Given the description of an element on the screen output the (x, y) to click on. 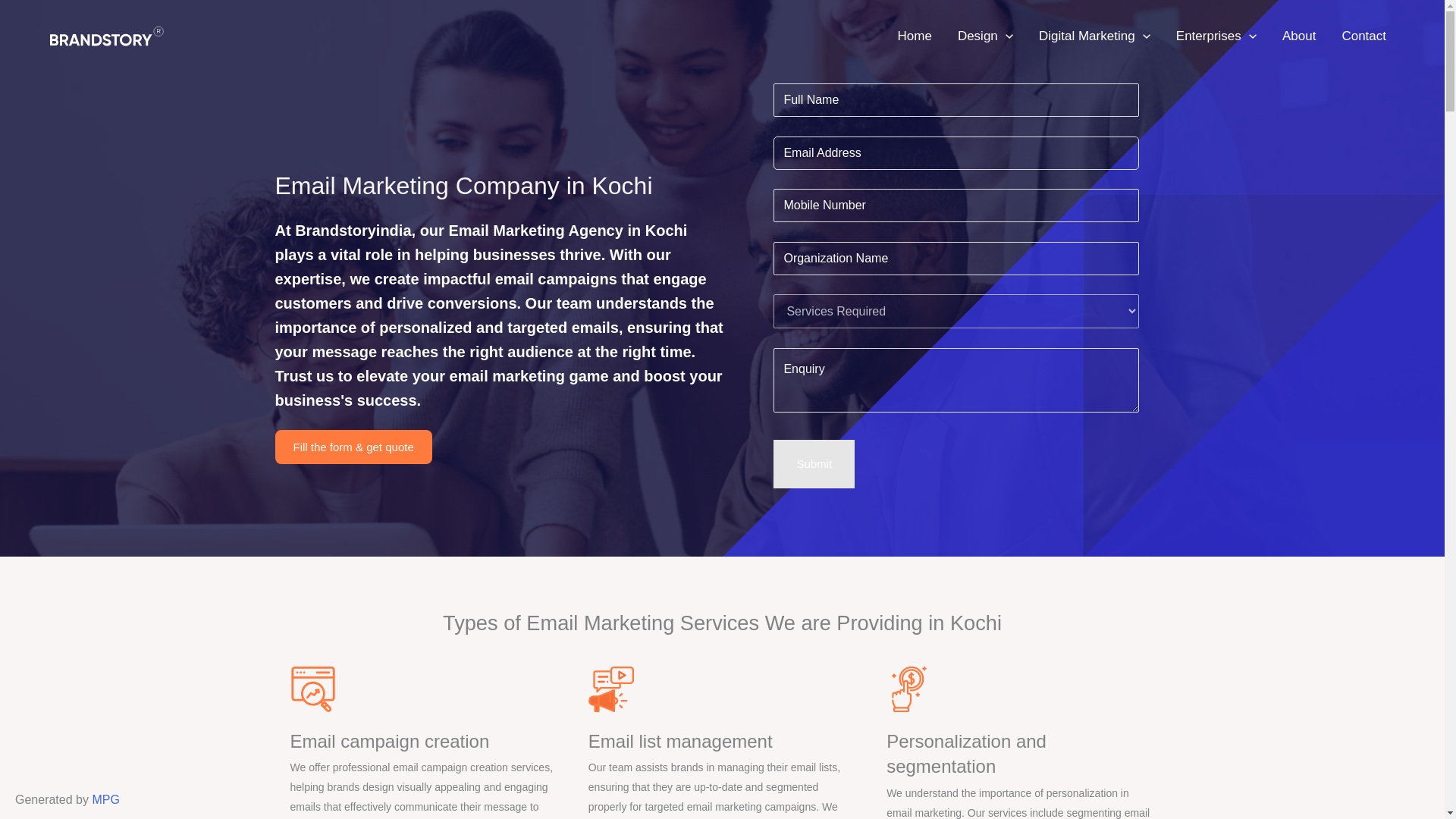
Design (985, 36)
Enterprises (1216, 36)
Submit (813, 463)
Contact (1363, 36)
Digital Marketing (1094, 36)
